Given the description of an element on the screen output the (x, y) to click on. 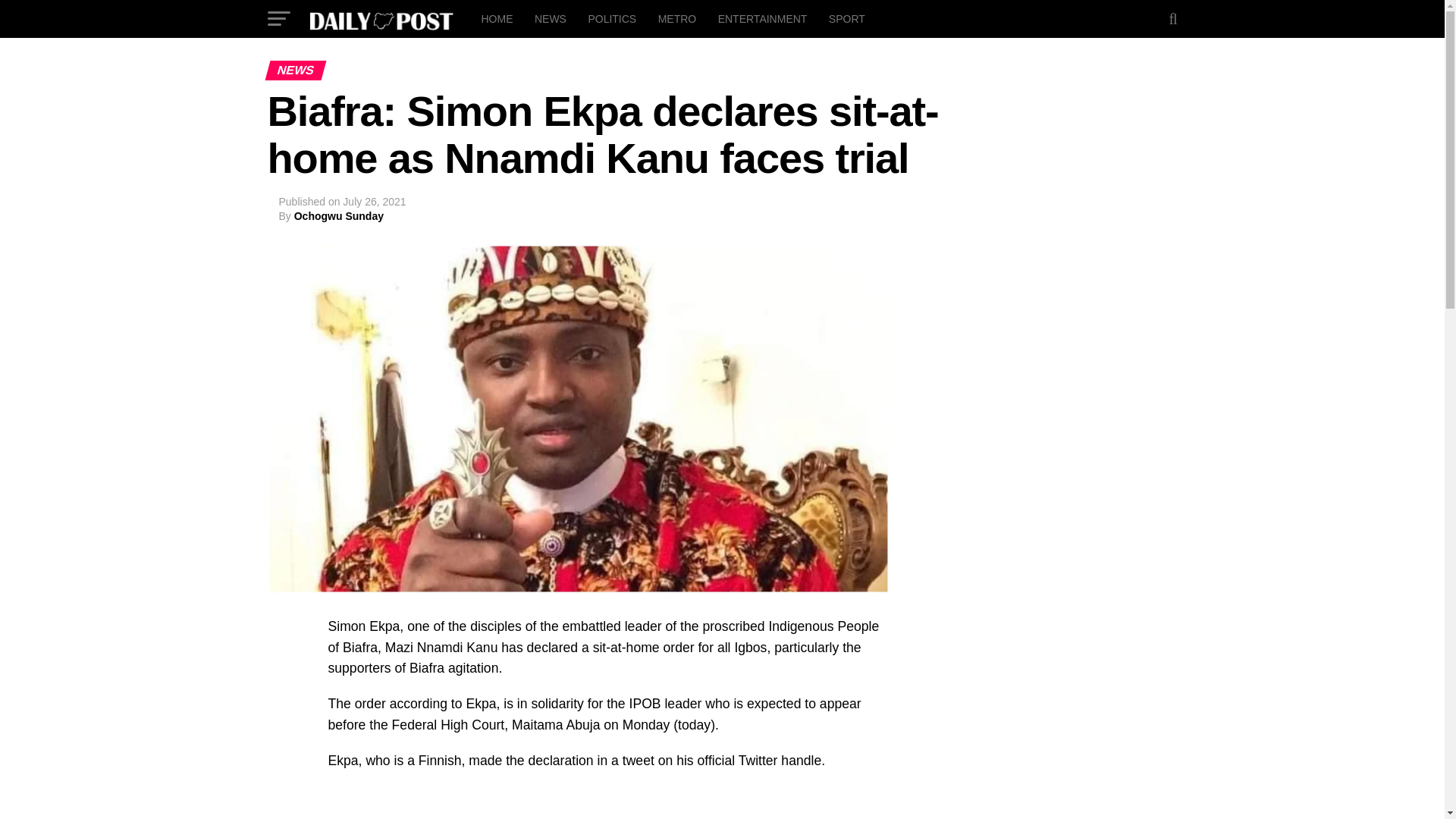
HOME (496, 18)
Ochogwu Sunday (339, 215)
METRO (677, 18)
SPORT (847, 18)
ENTERTAINMENT (762, 18)
NEWS (550, 18)
Posts by Ochogwu Sunday (339, 215)
POLITICS (611, 18)
